Given the description of an element on the screen output the (x, y) to click on. 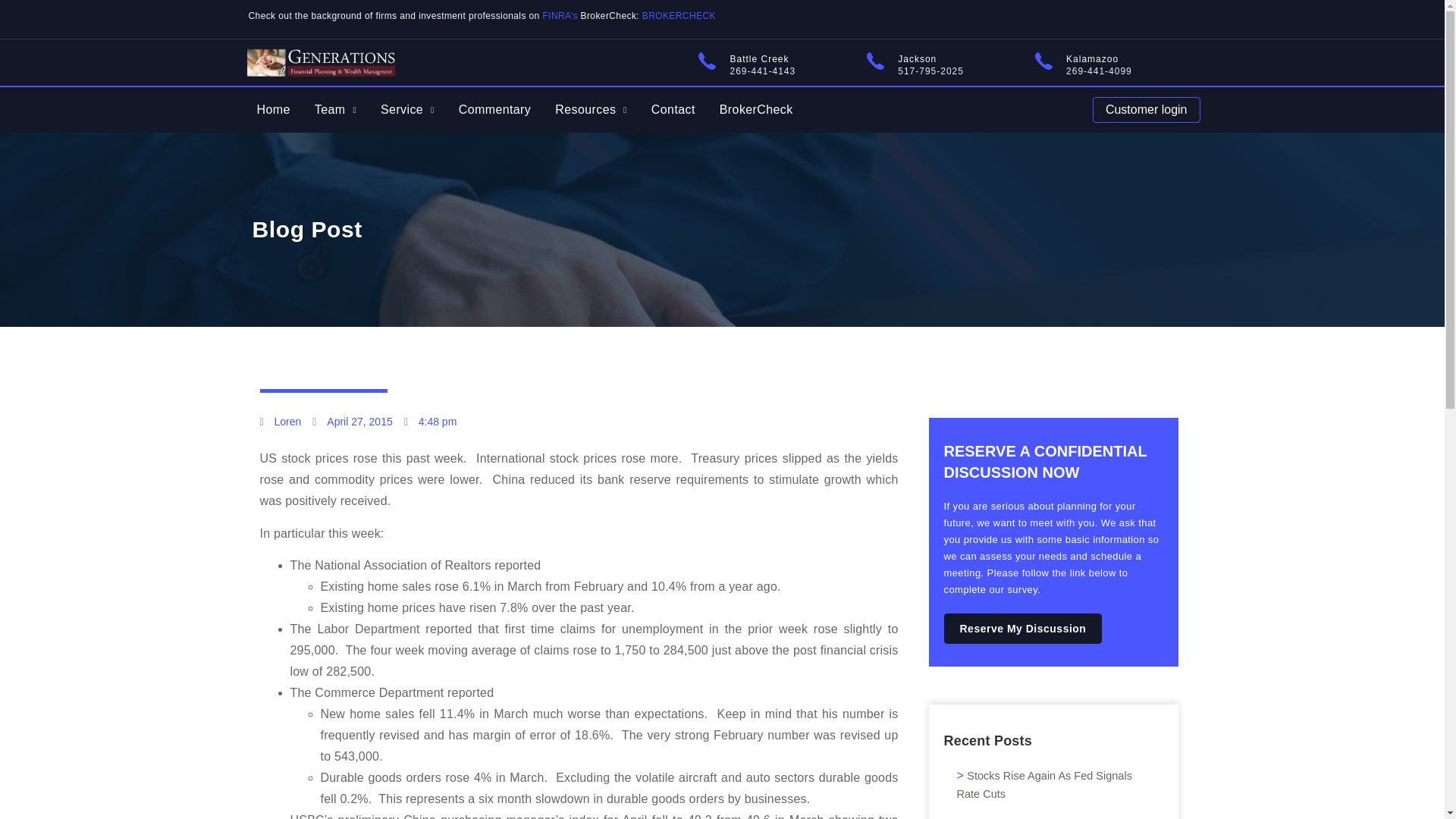
517-795-2025 (930, 71)
Team (335, 109)
Resources (591, 109)
Battle Creek (759, 59)
269-441-4099 (1098, 71)
Kalamazoo (1091, 59)
Service (407, 109)
Jackson (917, 59)
Home (272, 109)
Commentary (494, 109)
